Given the description of an element on the screen output the (x, y) to click on. 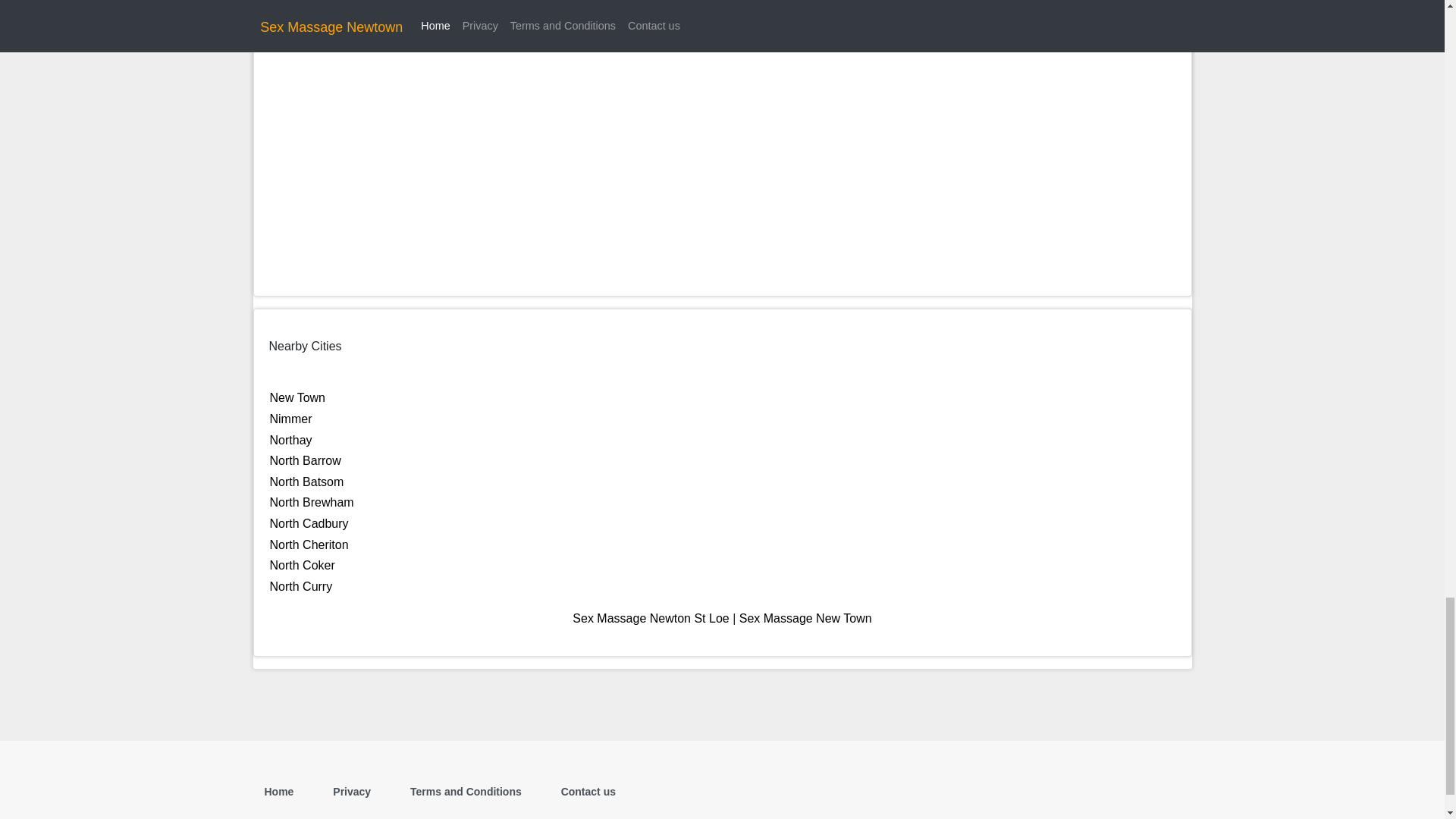
North Coker (301, 564)
North Cadbury (309, 522)
Nimmer (291, 418)
North Brewham (311, 502)
North Barrow (304, 460)
Sex Massage New Town (805, 617)
Sex Massage Newton St Loe (650, 617)
North Curry (301, 585)
Northay (291, 440)
North Batsom (306, 481)
